Given the description of an element on the screen output the (x, y) to click on. 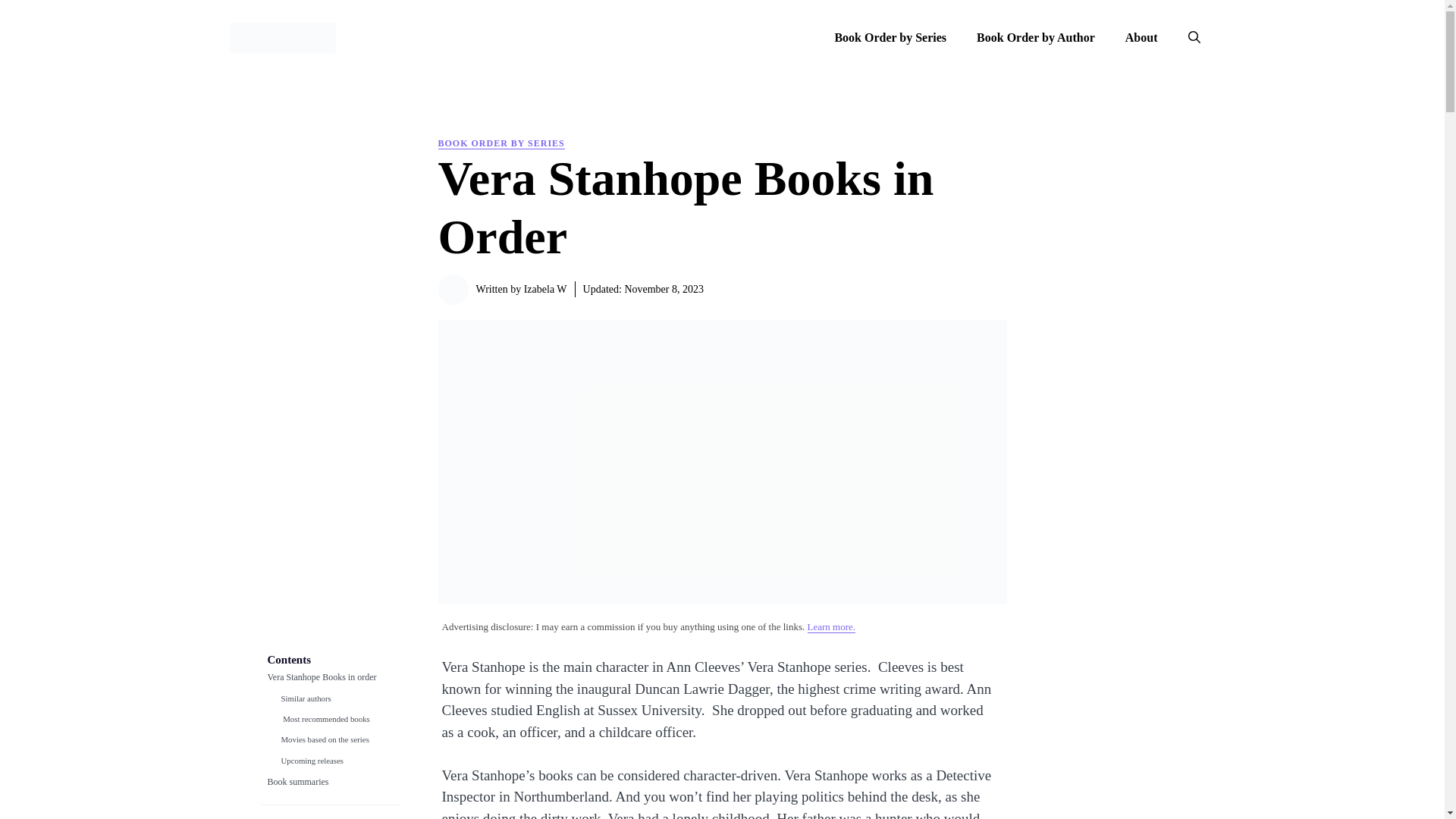
Upcoming releases (311, 764)
About (1141, 37)
Similar authors (305, 702)
Book Order by Author (1034, 37)
Movies based on the series (324, 743)
Learn more. (832, 626)
Izabela W (545, 288)
Book Order by Series (889, 37)
Book summaries (297, 785)
BOOK ORDER BY SERIES (501, 143)
